Given the description of an element on the screen output the (x, y) to click on. 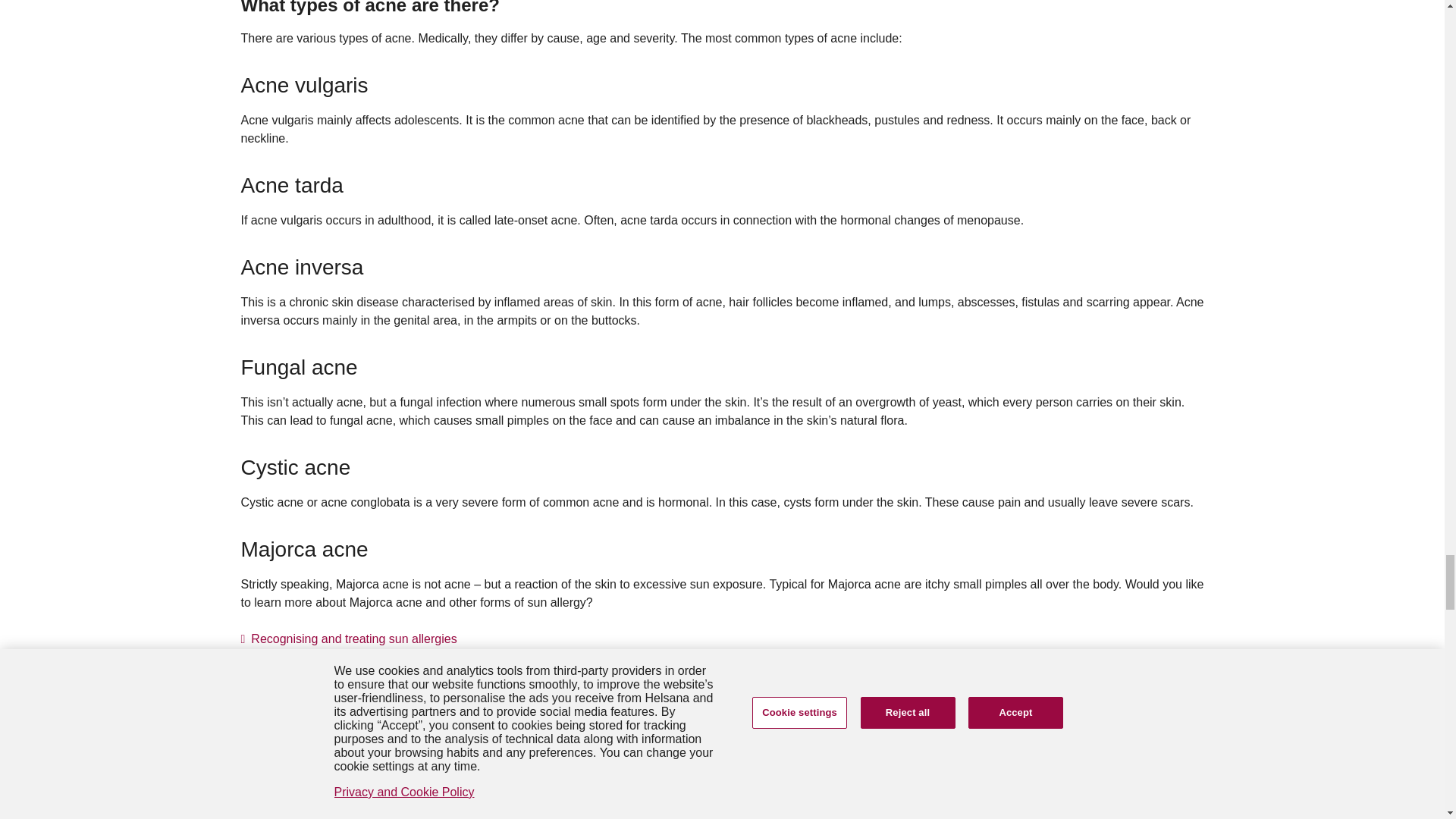
Can you squeeze acne spots?  (722, 697)
What helps with acne?  (722, 807)
Recognising and treating sun allergies (349, 638)
